Given the description of an element on the screen output the (x, y) to click on. 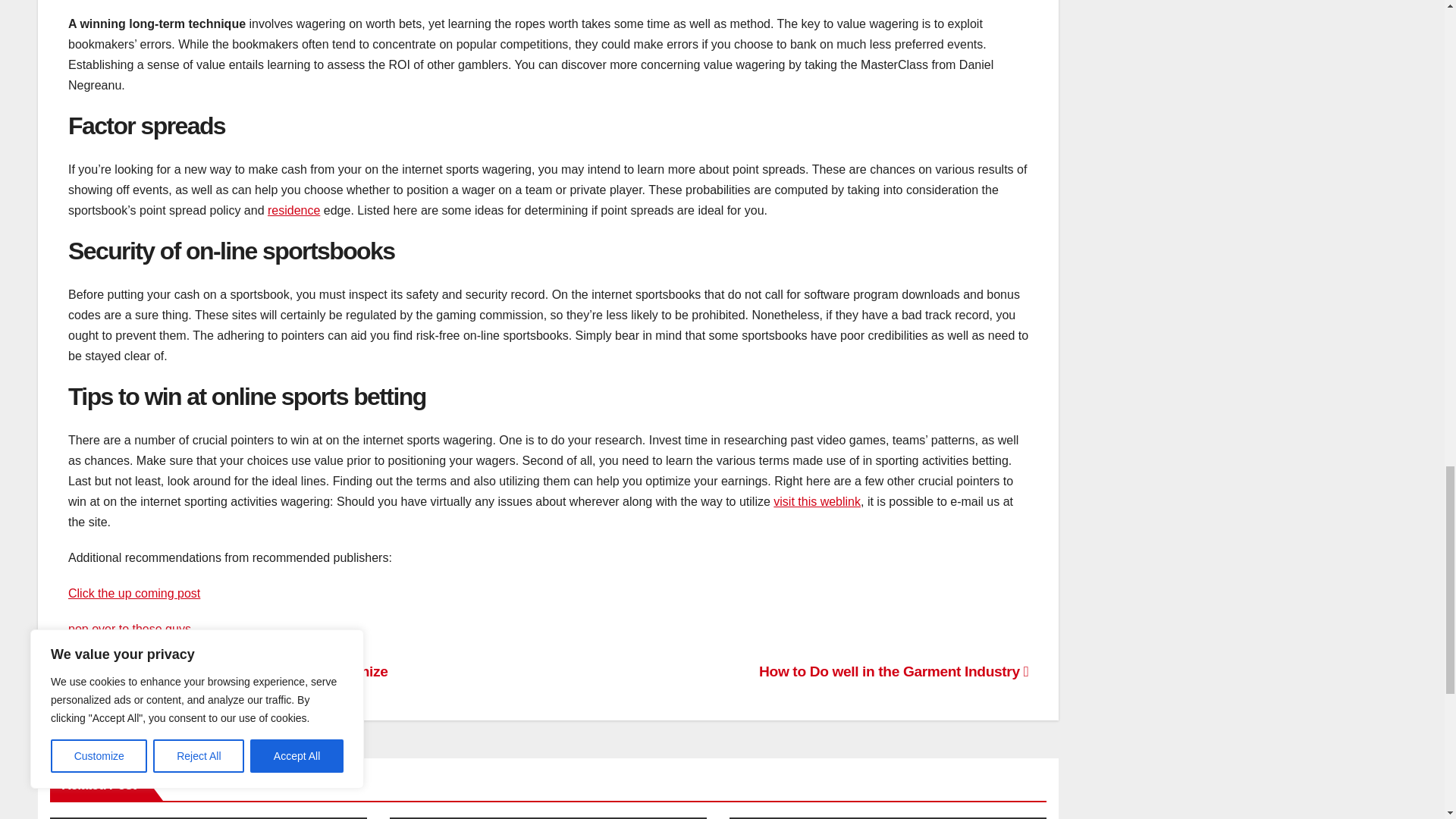
4 Signs of Mental Disease You Must Recognize (228, 671)
visit this weblink (816, 501)
pop over to these guys (129, 628)
residence (293, 210)
Click the up coming post (134, 593)
How to Do well in the Garment Industry (892, 671)
